Given the description of an element on the screen output the (x, y) to click on. 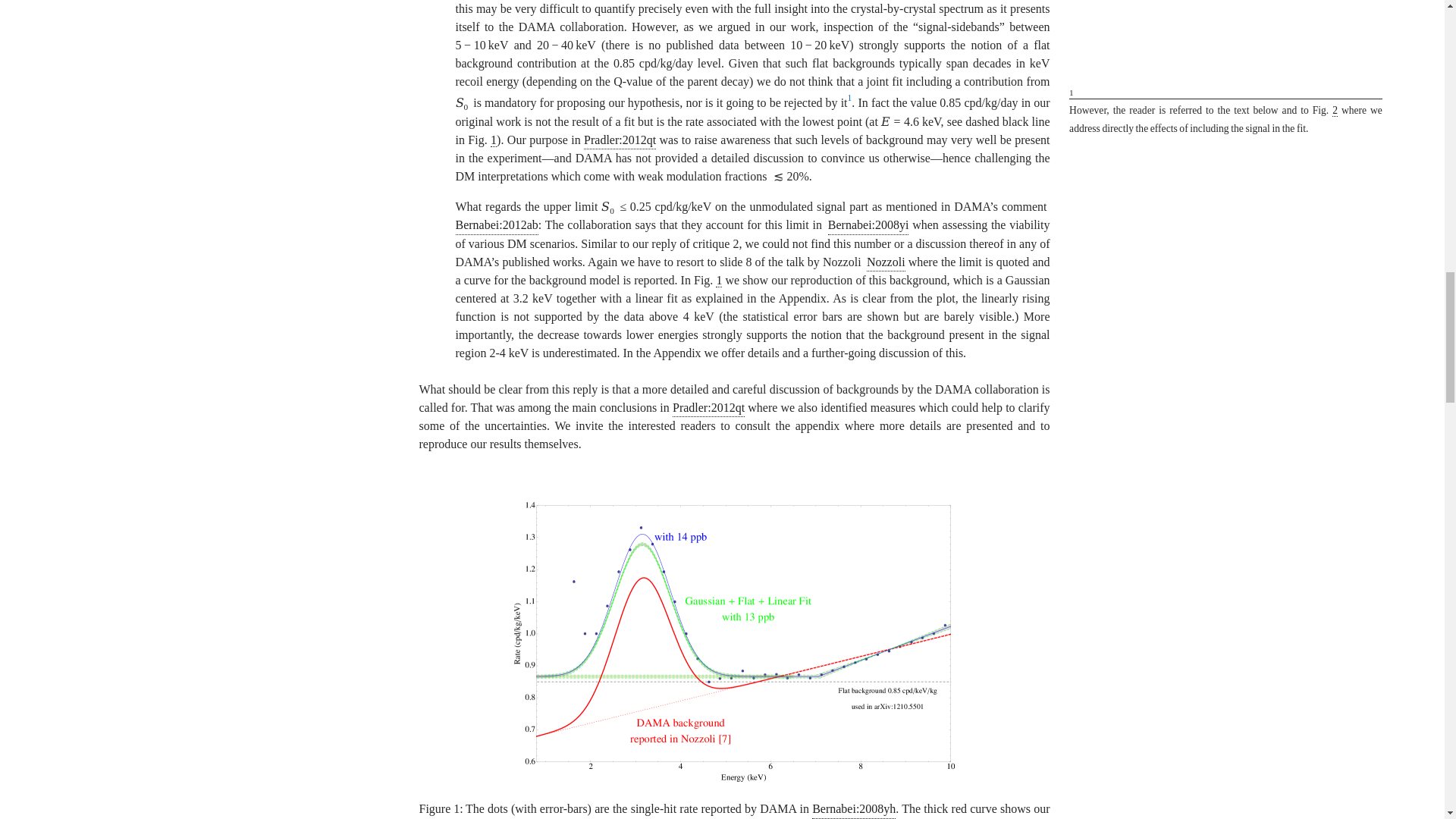
Pradler:2012qt (619, 140)
Bernabei:2012ab (495, 225)
Nozzoli (885, 262)
Bernabei:2008yi (868, 225)
